Given the description of an element on the screen output the (x, y) to click on. 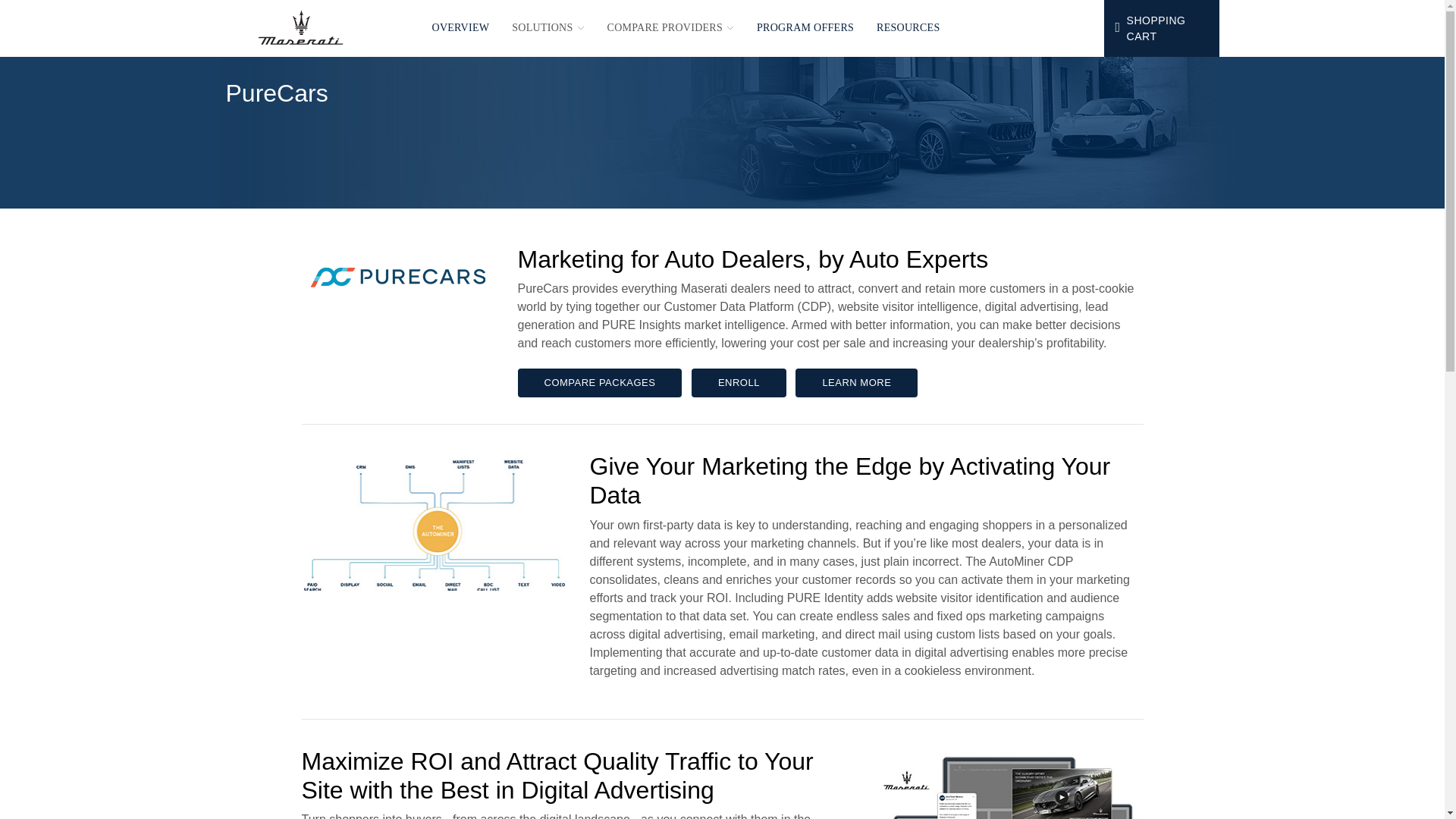
RESOURCES (907, 27)
OVERVIEW (460, 27)
COMPARE PROVIDERS (670, 27)
PROGRAM OFFERS (804, 27)
SOLUTIONS (547, 27)
SHOPPING CART (1161, 28)
